Given the description of an element on the screen output the (x, y) to click on. 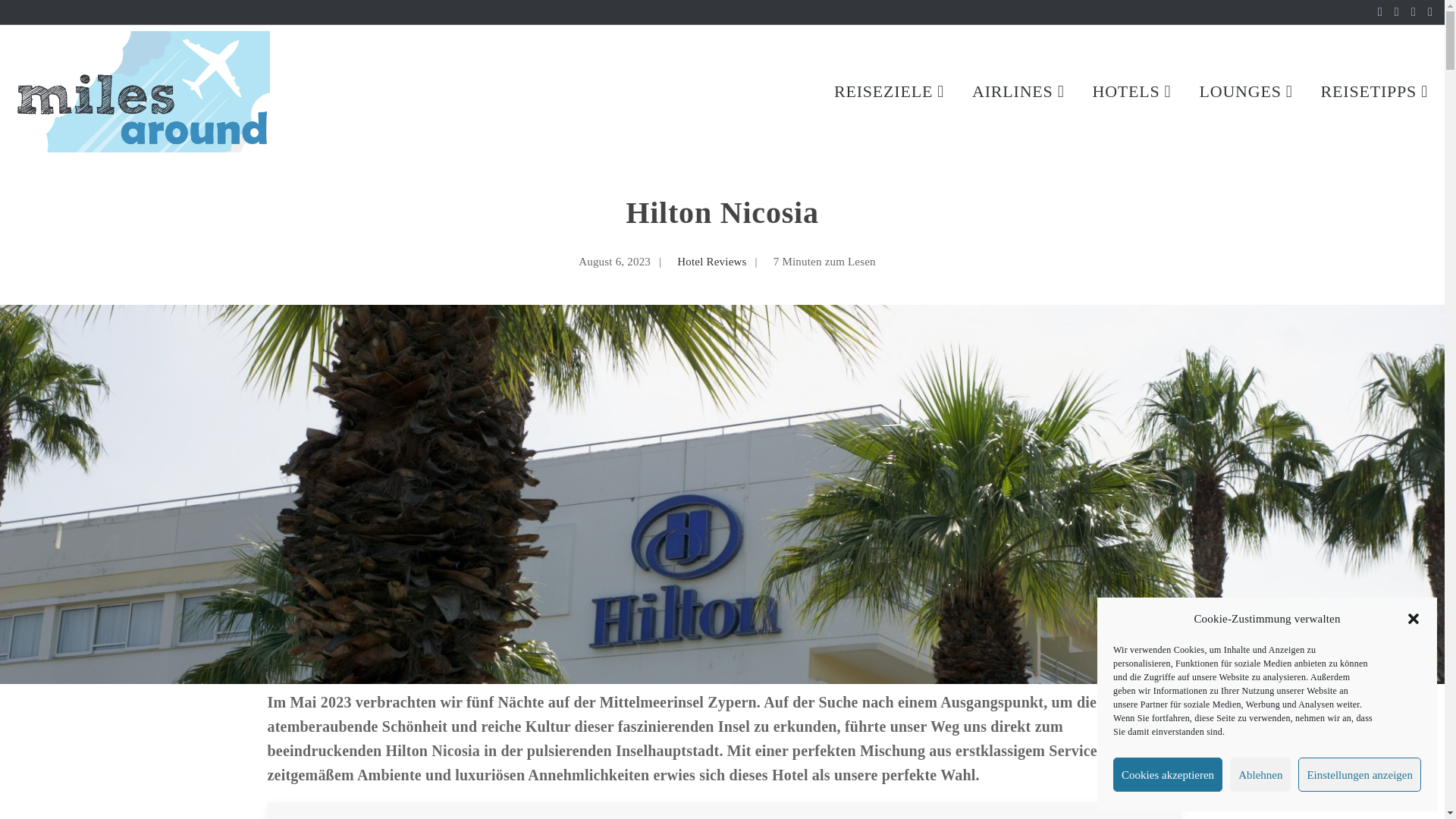
REISEZIELE (890, 91)
Einstellungen anzeigen (1359, 774)
Ablehnen (1260, 774)
Cookies akzeptieren (1168, 774)
